Given the description of an element on the screen output the (x, y) to click on. 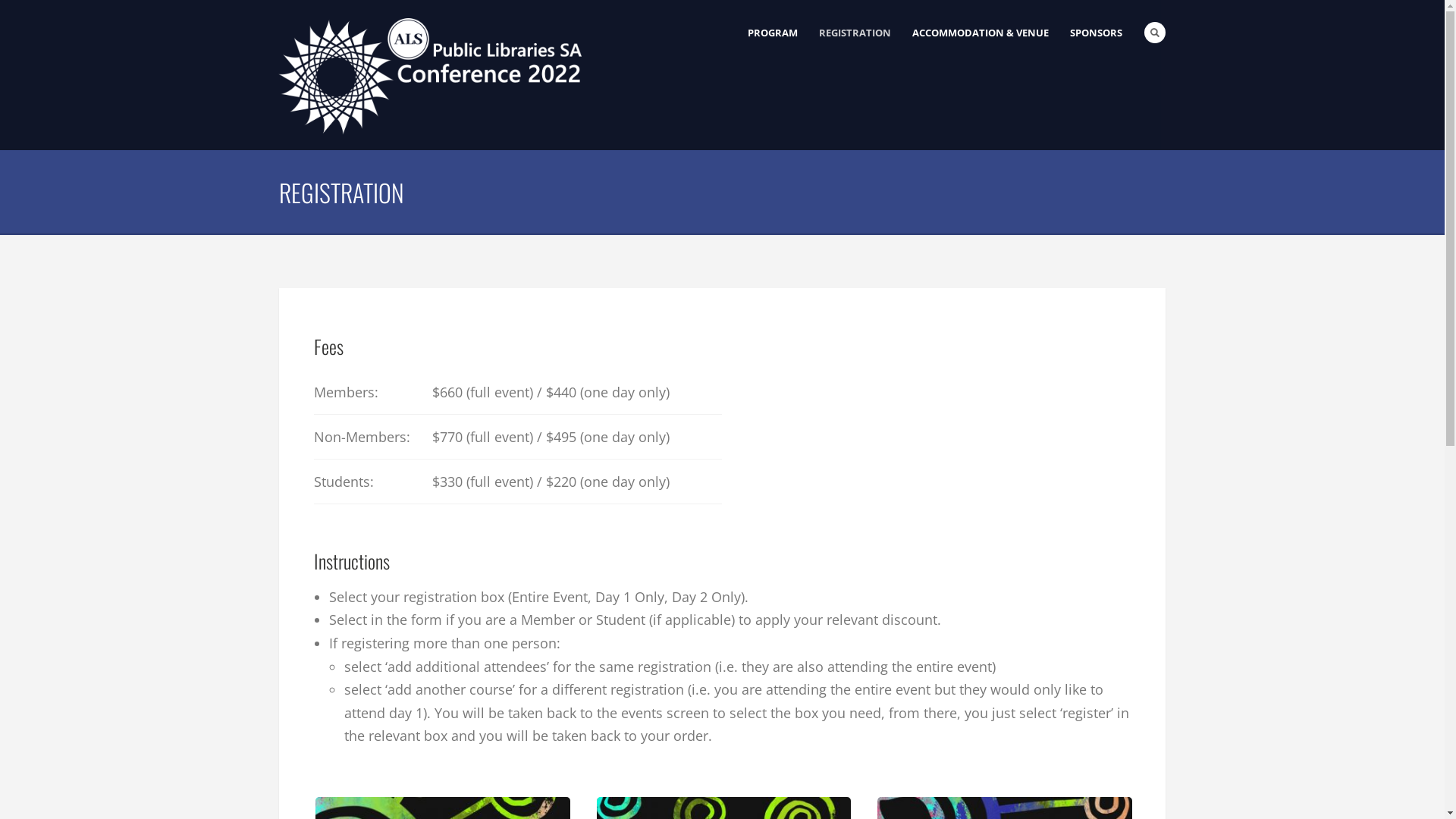
ACCOMMODATION & VENUE Element type: text (980, 32)
REGISTRATION Element type: text (854, 32)
Search Element type: text (1154, 32)
PROGRAM Element type: text (772, 32)
SPONSORS Element type: text (1095, 32)
